Given the description of an element on the screen output the (x, y) to click on. 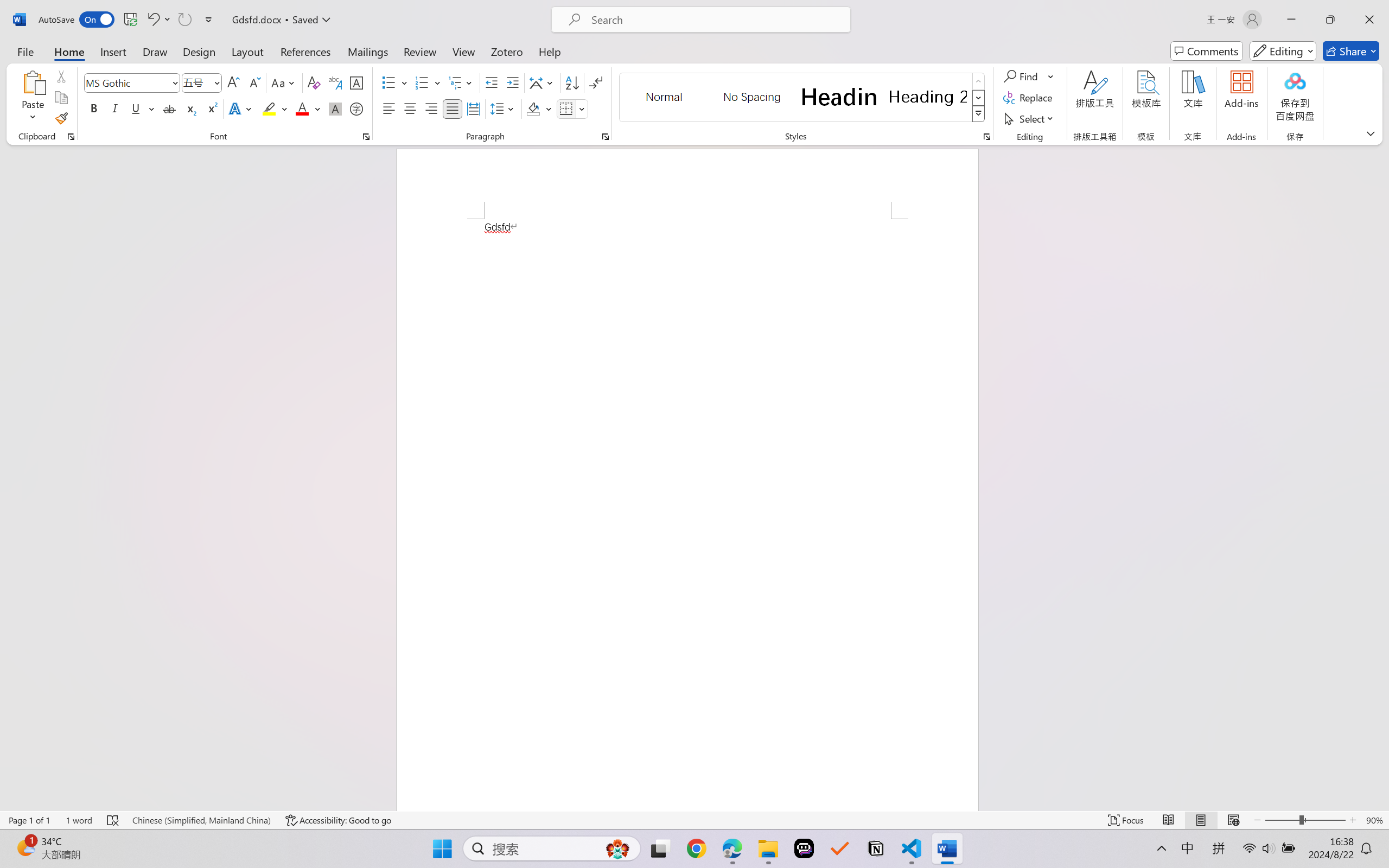
Shading (539, 108)
Class: MsoCommandBar (694, 819)
Shading RGB(0, 0, 0) (533, 108)
